Given the description of an element on the screen output the (x, y) to click on. 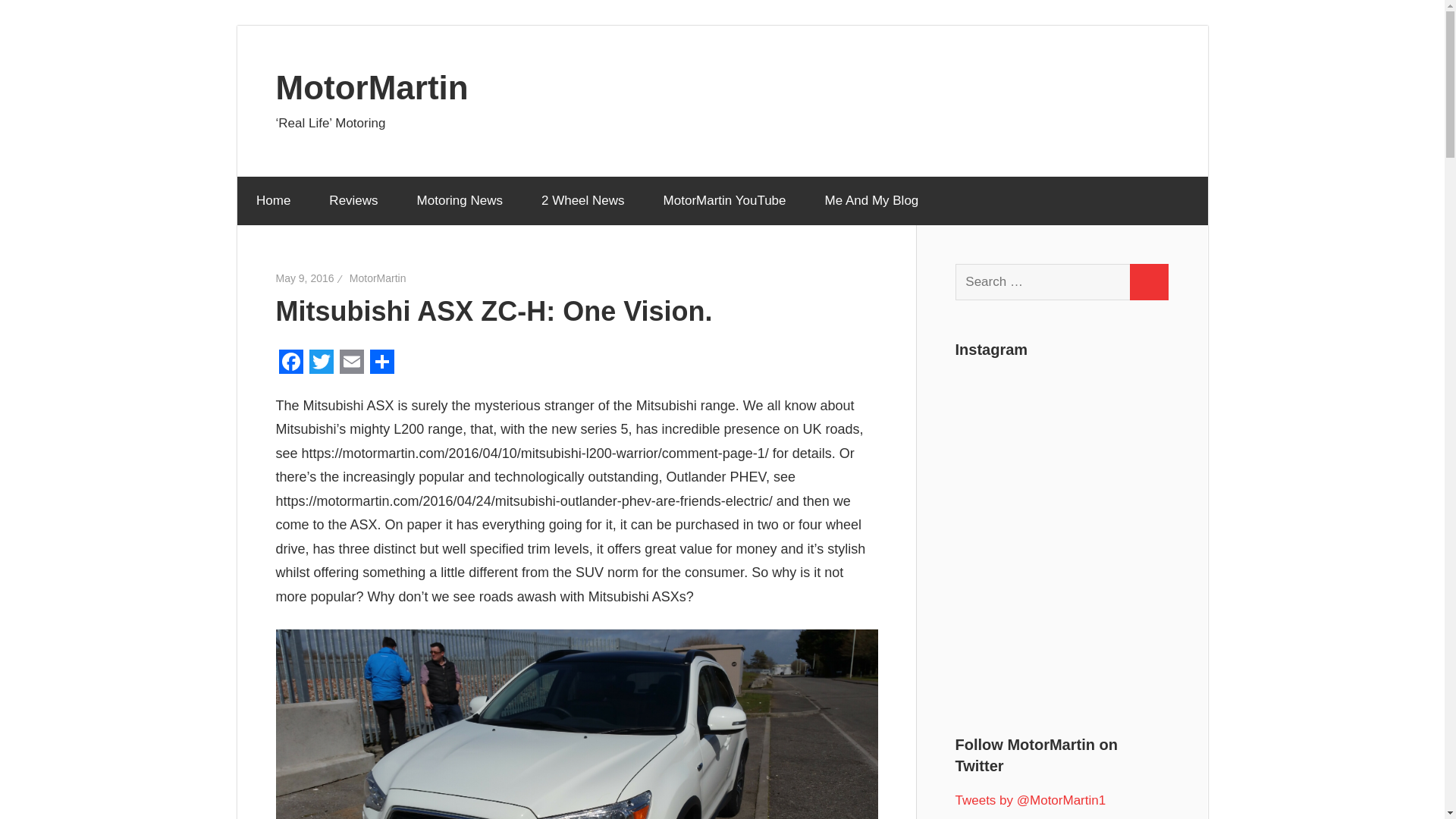
May 9, 2016 (305, 277)
MotorMartin YouTube (724, 200)
MotorMartin (372, 86)
Motoring News (459, 200)
10:49 pm (305, 277)
Twitter (320, 361)
Me And My Blog (871, 200)
Facebook (290, 361)
View all posts by MotorMartin (377, 277)
Email (351, 361)
